Given the description of an element on the screen output the (x, y) to click on. 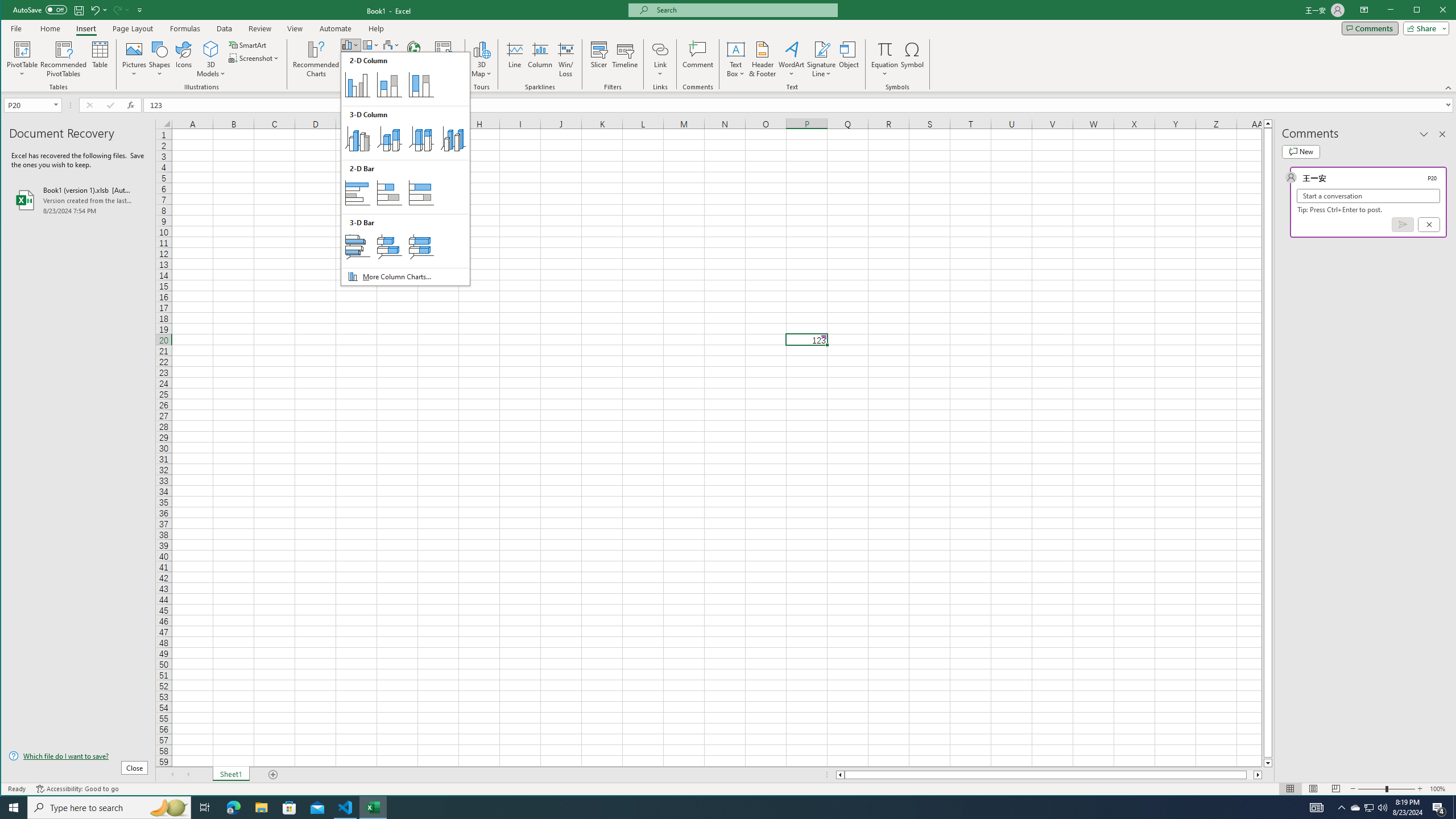
Recommended PivotTables (63, 59)
Accessibility Checker Accessibility: Good to go (77, 788)
Review (259, 28)
Home (50, 28)
Draw Horizontal Text Box (735, 48)
Shapes (159, 59)
Which file do I want to save? (78, 755)
AutoSave (39, 9)
Line up (1267, 122)
Recommended Charts (315, 59)
Notification Chevron (1341, 807)
3D Models (211, 59)
Type here to search (108, 807)
Column right (1258, 774)
More Options (884, 69)
